Given the description of an element on the screen output the (x, y) to click on. 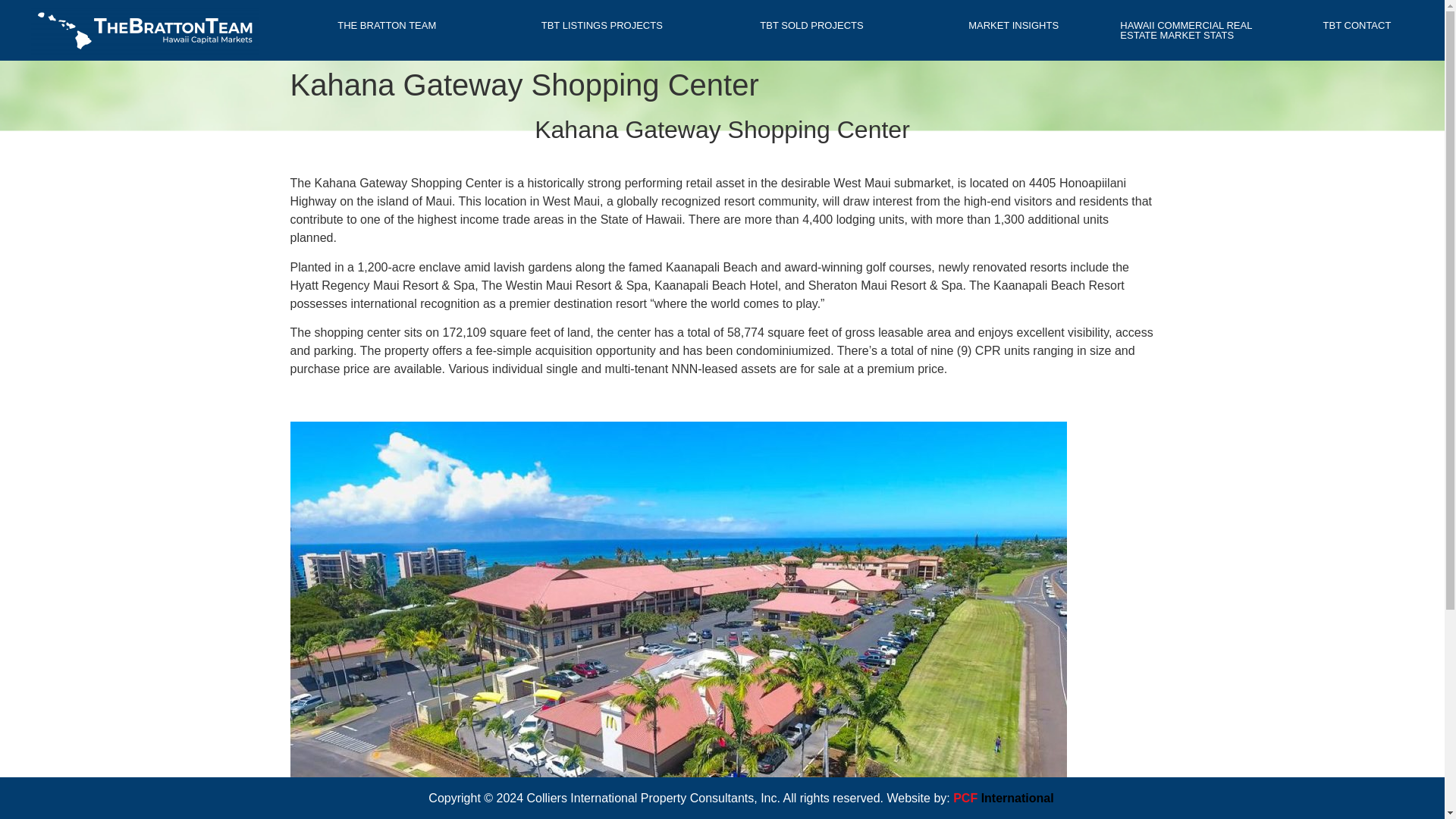
PCF International (1002, 797)
HAWAII COMMERCIAL REAL ESTATE MARKET STATS (1194, 30)
MARKET INSIGHTS (1017, 25)
THE BRATTON TEAM (390, 25)
TBT SOLD PROJECTS (815, 25)
TBT LISTINGS PROJECTS (602, 25)
TBT CONTACT (1356, 25)
